Given the description of an element on the screen output the (x, y) to click on. 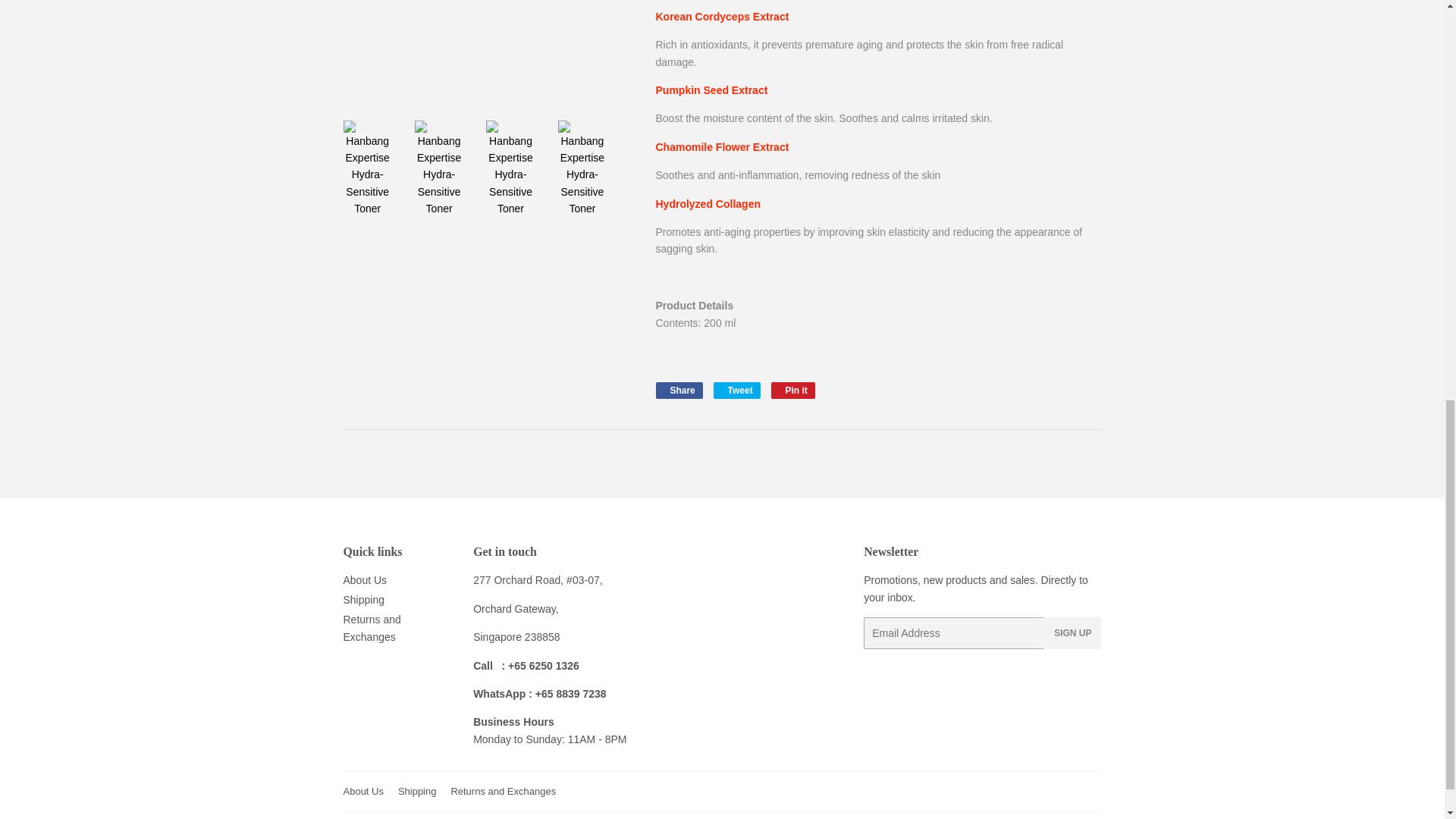
Share on Facebook (678, 390)
Pin on Pinterest (793, 390)
Tweet on Twitter (736, 390)
